Given the description of an element on the screen output the (x, y) to click on. 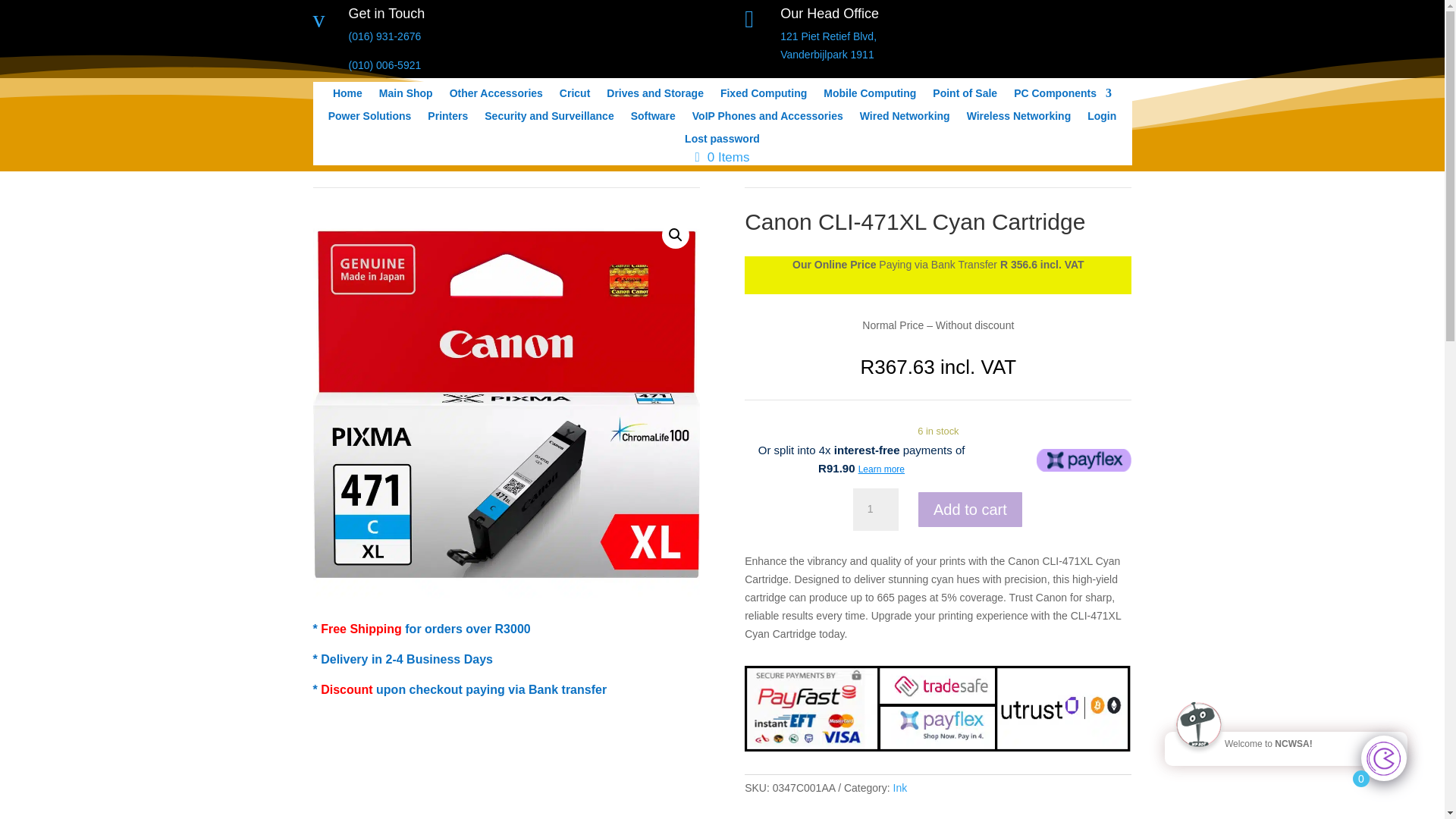
1 (875, 509)
0 Items (722, 157)
Software (652, 118)
Mobile Computing (869, 95)
Fixed Computing (763, 95)
Home (347, 95)
Other Accessories (496, 95)
VoIP Phones and Accessories (828, 45)
Wired Networking (768, 118)
Point of Sale (905, 118)
Login (965, 95)
Cricut (1101, 118)
Power Solutions (574, 95)
